Given the description of an element on the screen output the (x, y) to click on. 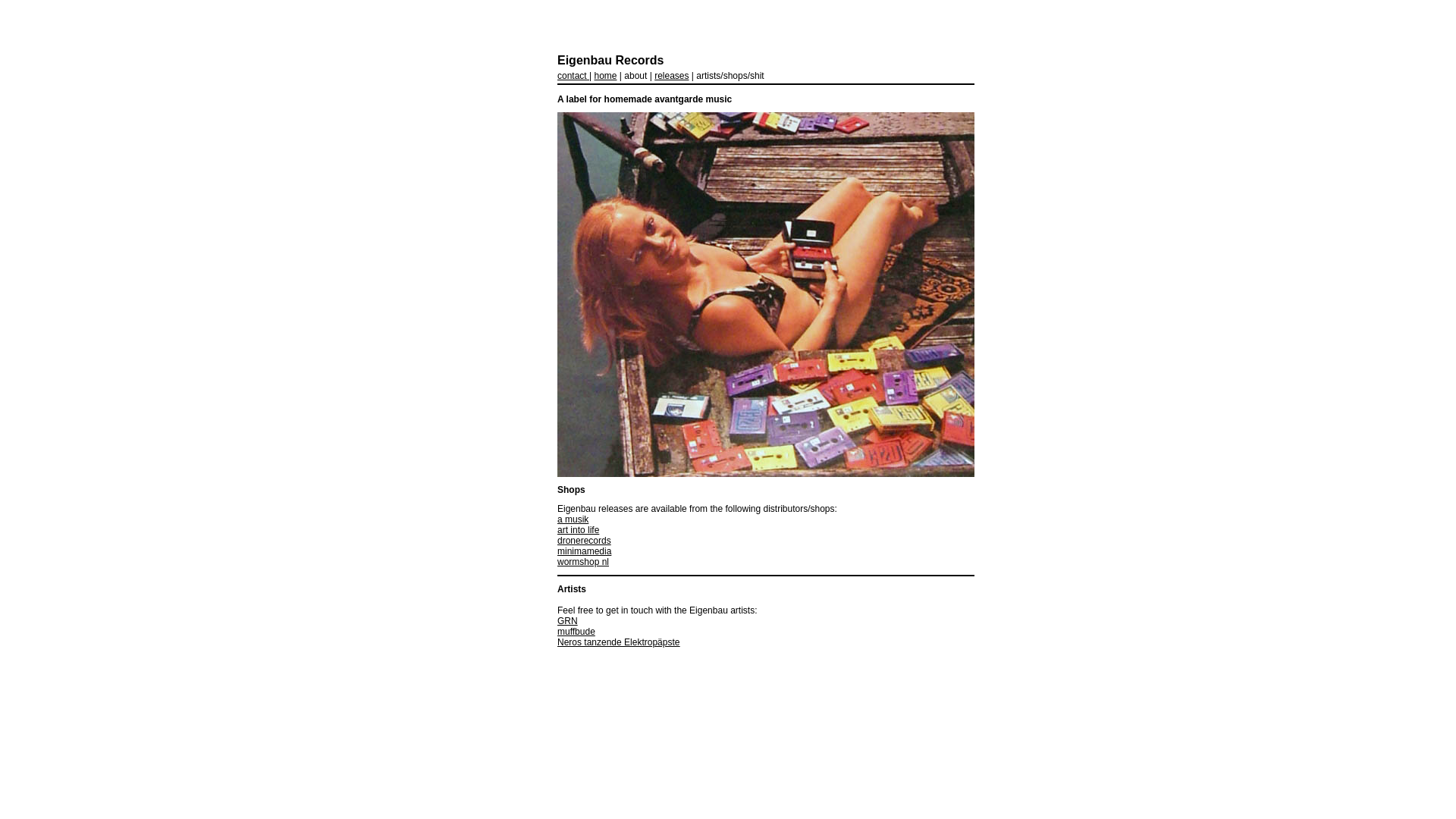
contact Element type: text (573, 75)
releases Element type: text (671, 75)
wormshop nl Element type: text (582, 561)
artists/shops/shit Element type: text (729, 75)
dronerecords Element type: text (584, 540)
art into life Element type: text (578, 529)
muffbude Element type: text (576, 631)
minimamedia Element type: text (584, 551)
a musik Element type: text (572, 519)
about Element type: text (635, 75)
home Element type: text (604, 75)
GRN Element type: text (567, 620)
